Given the description of an element on the screen output the (x, y) to click on. 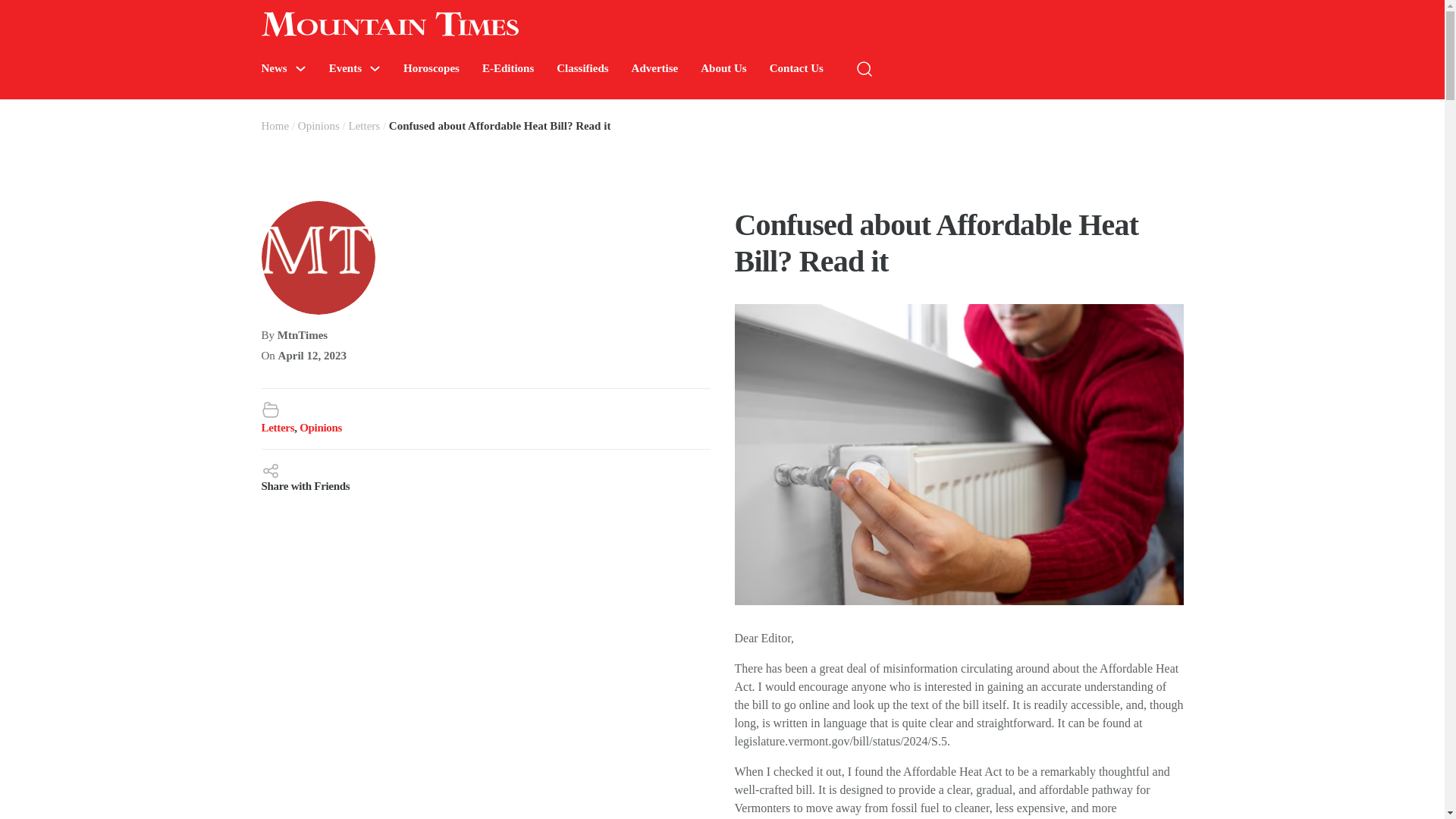
Horoscopes (431, 67)
Opinions (318, 125)
Classifieds (582, 67)
E-Editions (507, 67)
About Us (722, 67)
Advertise (654, 67)
Events (345, 67)
Letters (277, 427)
Home (274, 125)
Search (1274, 114)
